Given the description of an element on the screen output the (x, y) to click on. 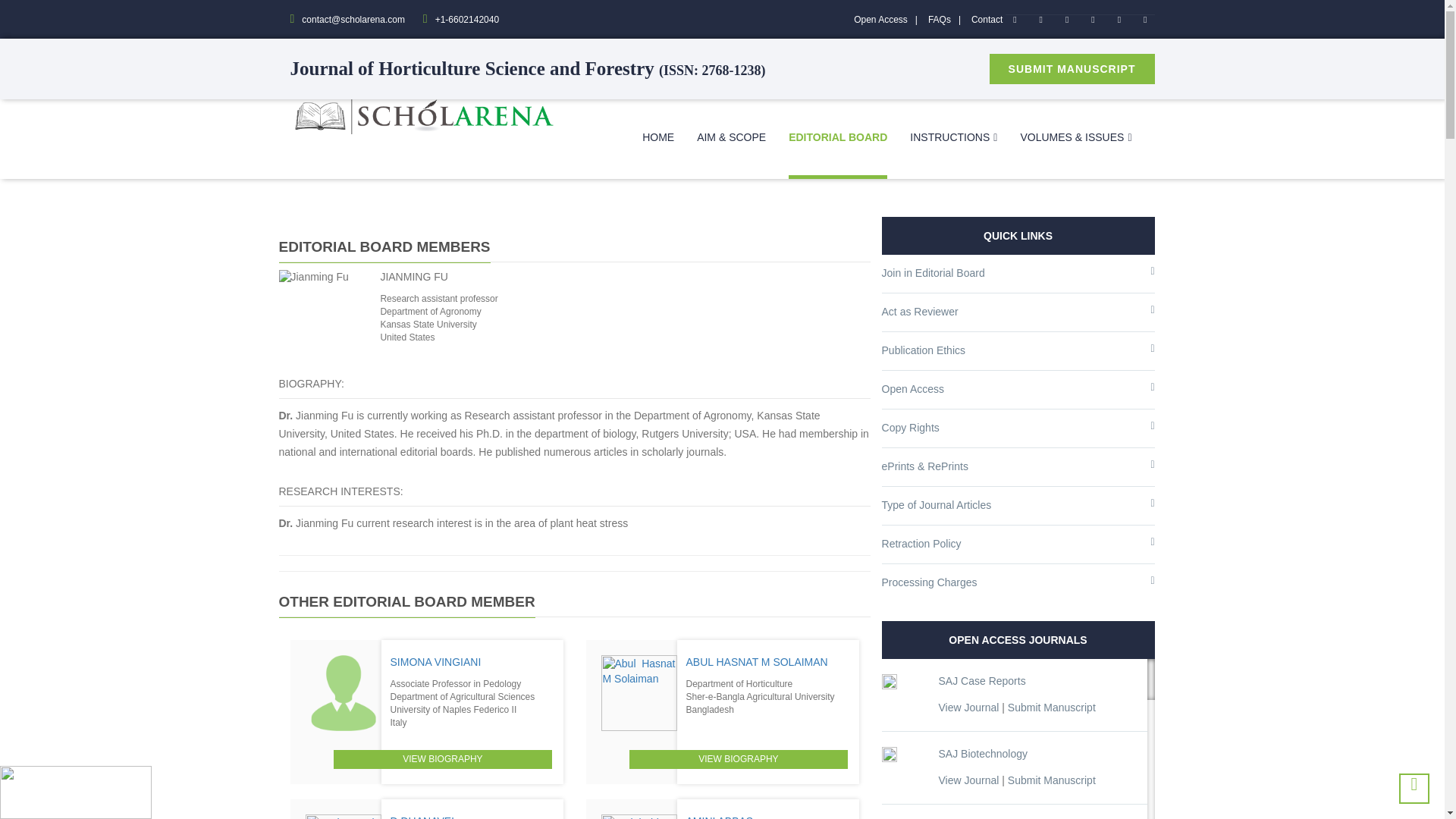
Open Access (888, 19)
EDITORIAL BOARD (837, 139)
Instructions (953, 137)
SIMONA VINGIANI (435, 662)
Abul Hasnat M Solaiman (638, 693)
FAQs (948, 19)
Editorial Board (837, 139)
D DHANAVEL (423, 816)
ABUL HASNAT M SOLAIMAN (756, 662)
Contact (987, 19)
